Given the description of an element on the screen output the (x, y) to click on. 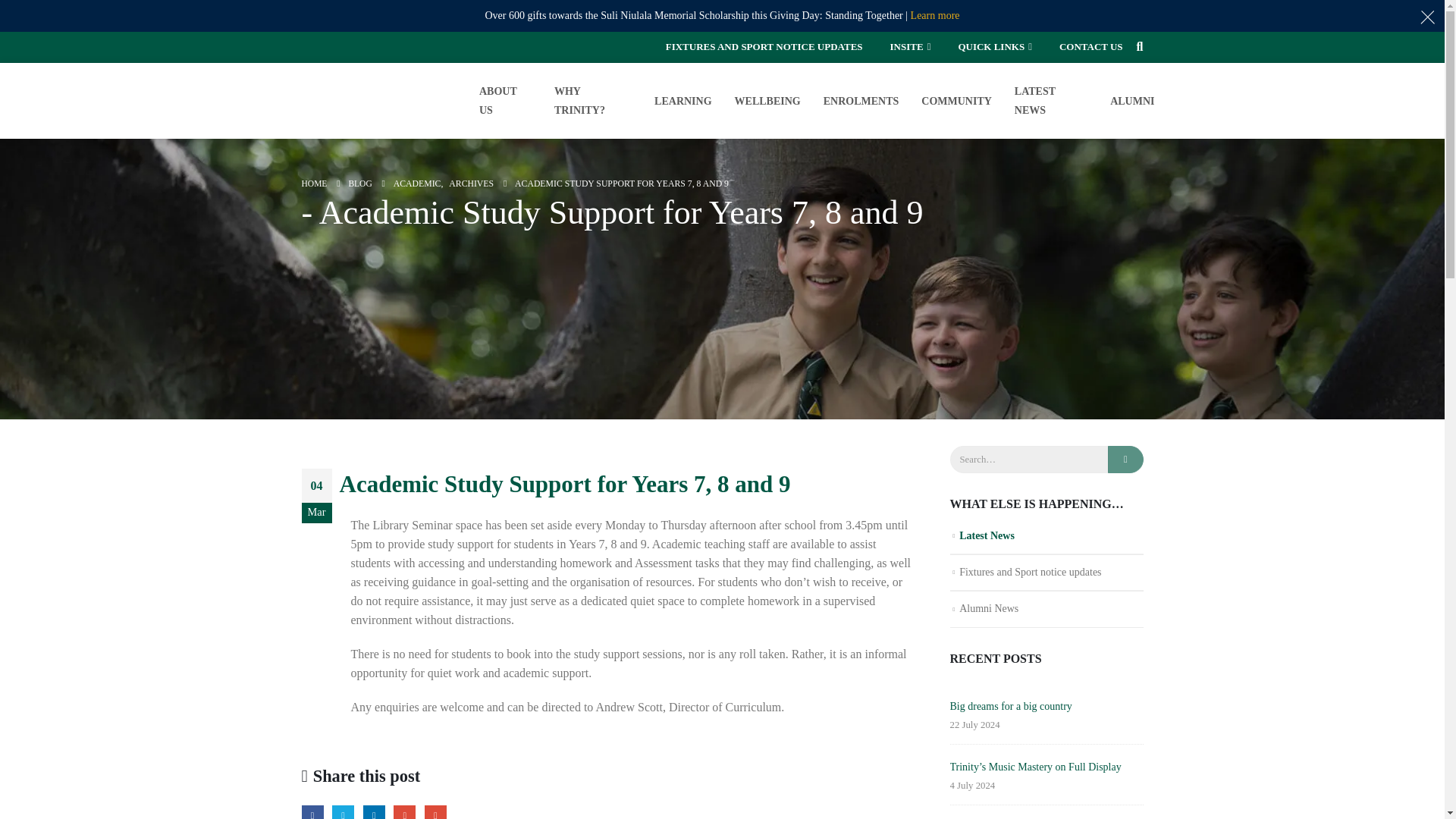
INSITE (910, 46)
Twitter (342, 812)
Facebook (312, 812)
ABOUT US (505, 100)
WHY TRINITY? (592, 100)
LinkedIn (373, 812)
QUICK LINKS (994, 46)
CONTACT US (1091, 46)
Email (435, 812)
Learn more (935, 15)
Go to Home Page (314, 183)
FIXTURES AND SPORT NOTICE UPDATES (764, 46)
